Given the description of an element on the screen output the (x, y) to click on. 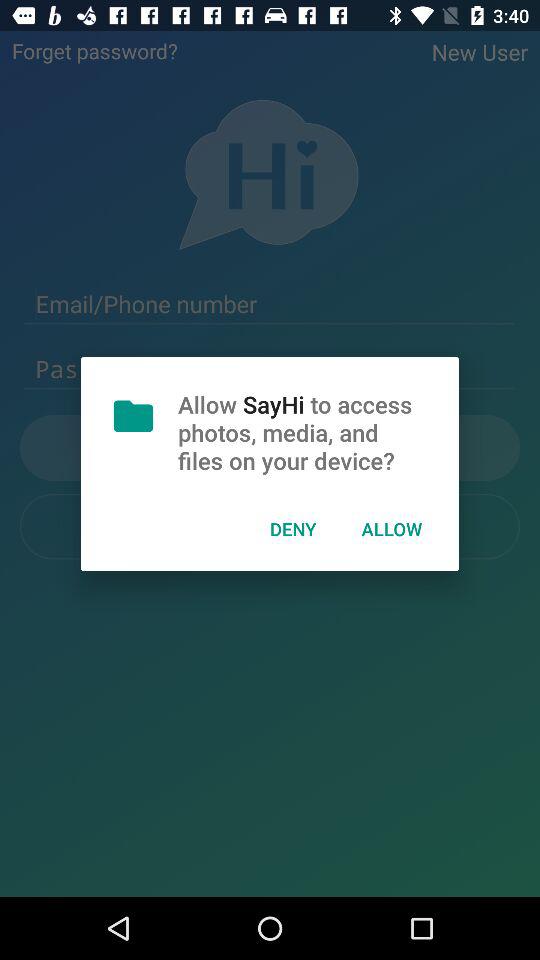
click on the text area which says emailphone number (269, 304)
select the text which is just above the deny and allow button (269, 447)
click on forget password (94, 51)
click on new user (480, 52)
select the text just beside the document icon (269, 447)
click the text box which says emailphone number (269, 304)
